Given the description of an element on the screen output the (x, y) to click on. 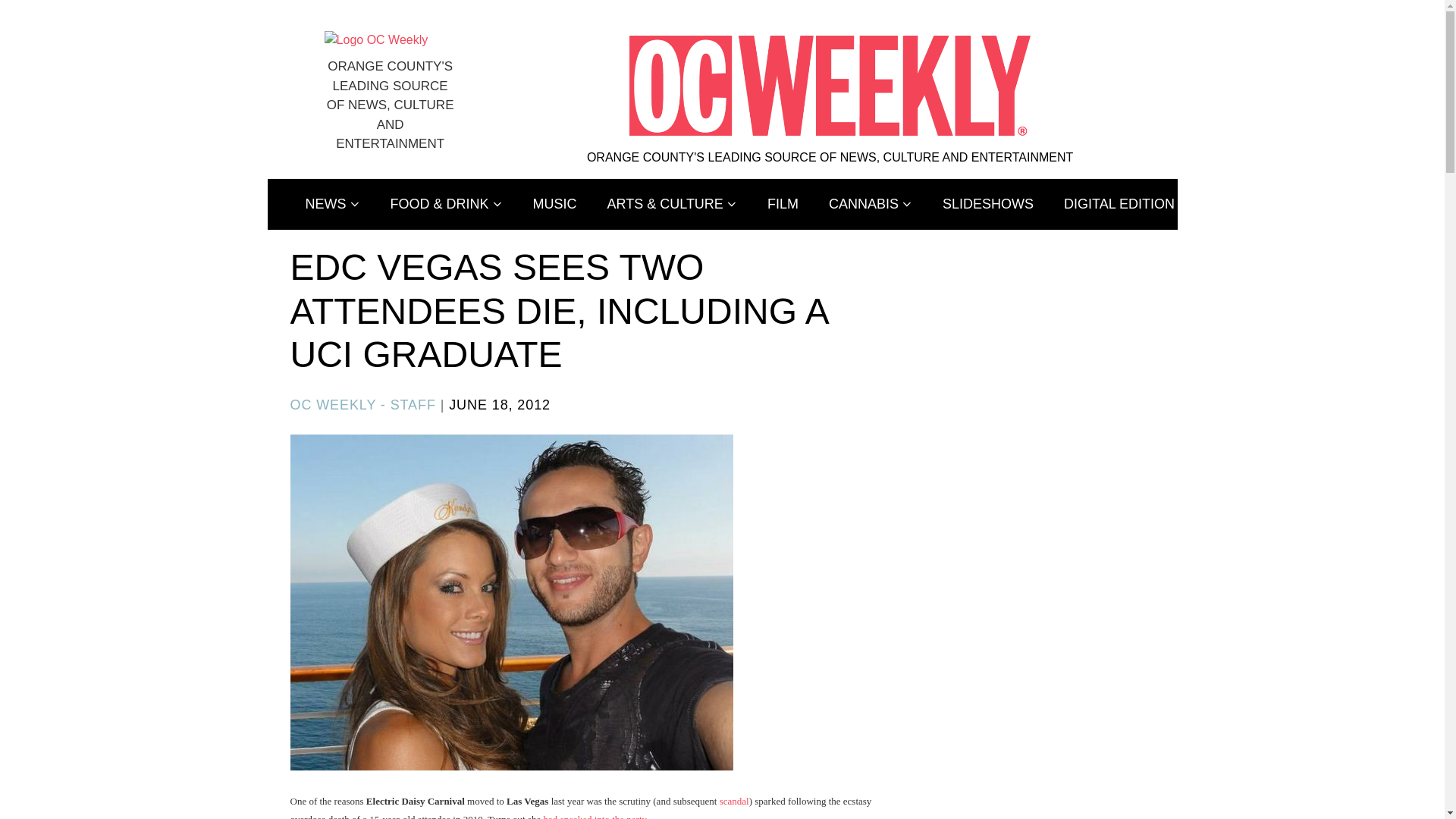
News (331, 204)
NEWS (331, 204)
FILM (782, 204)
OC Weekly (376, 39)
CANNABIS (870, 204)
MUSIC (555, 204)
